Given the description of an element on the screen output the (x, y) to click on. 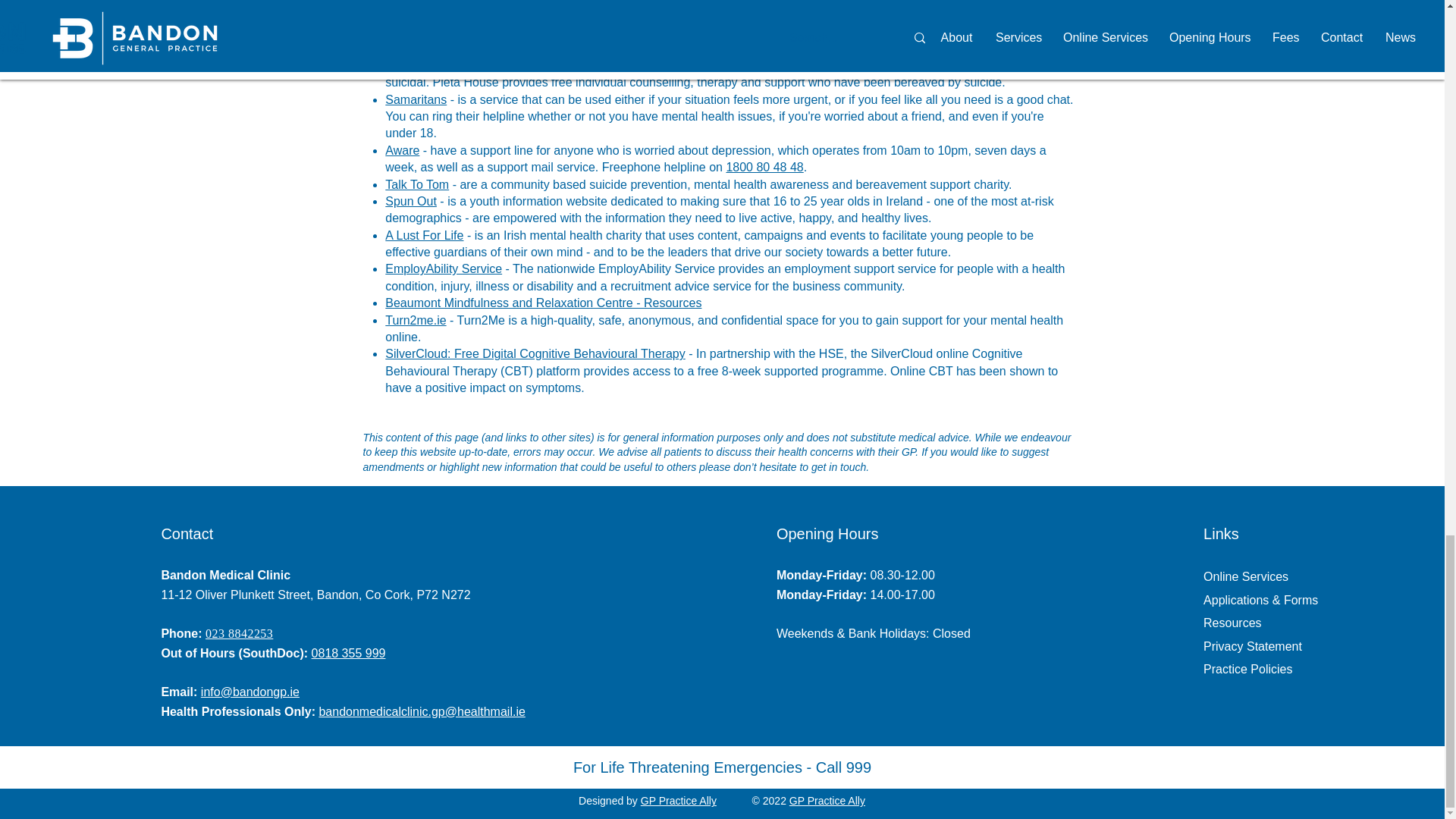
Privacy Statement (1252, 645)
023 8842253 (239, 633)
Pieta House (418, 47)
SilverCloud: Free Digital Cognitive Behavioural Therapy (534, 353)
Samaritans (415, 99)
Beaumont Mindfulness and Relaxation Centre - Resources (543, 302)
HSE - Mental Health (440, 2)
0818 355 999 (348, 653)
A Lust For Life (424, 235)
EmployAbility Service (443, 268)
Mental Health Ireland (442, 14)
Turn2me.ie (415, 319)
Aware (402, 150)
Online Services (1246, 576)
 - In partnership with the HSE, the (776, 353)
